Given the description of an element on the screen output the (x, y) to click on. 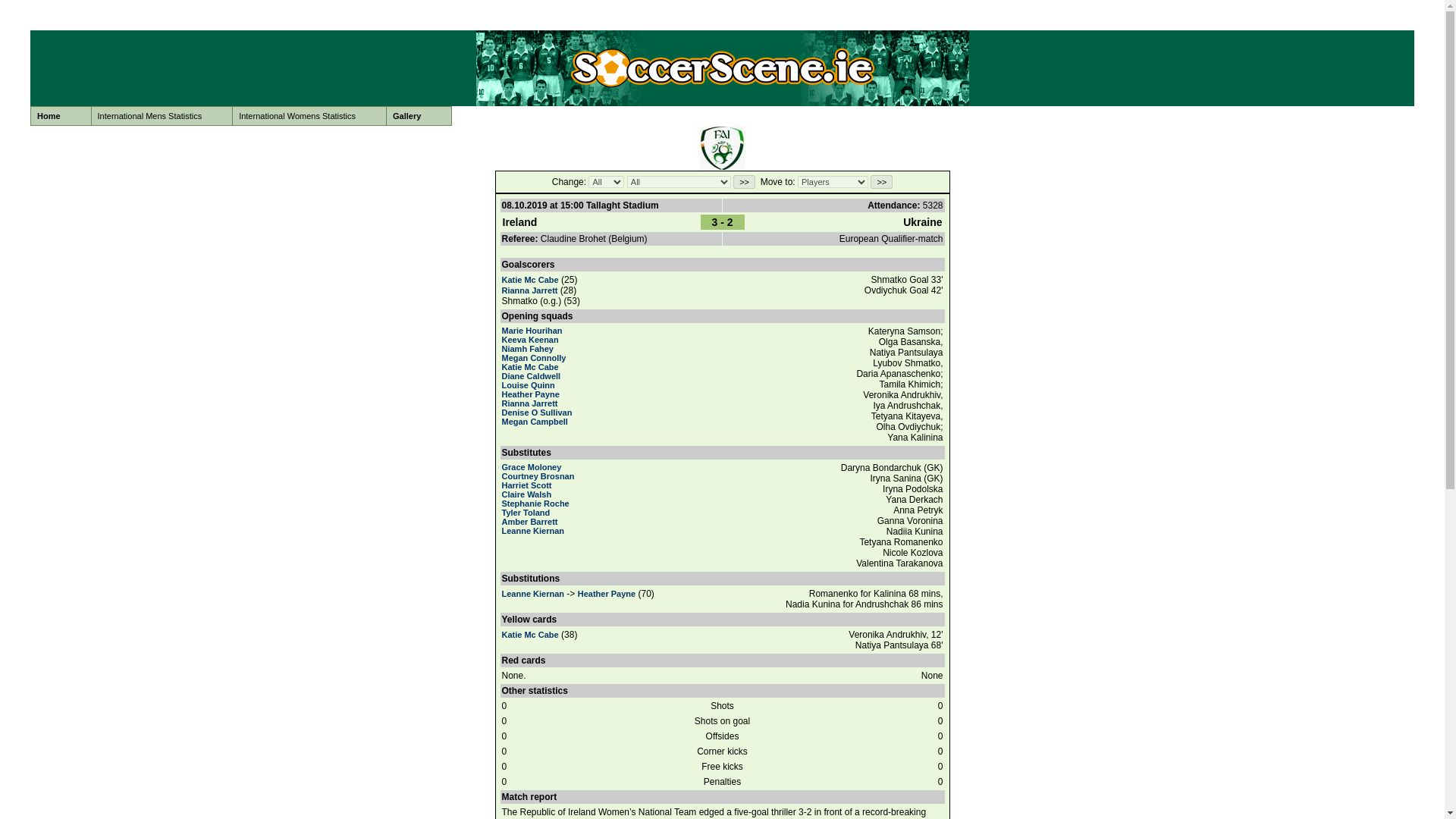
International Womens Statistics (309, 116)
International Mens Statistics (161, 116)
Home (60, 116)
